Given the description of an element on the screen output the (x, y) to click on. 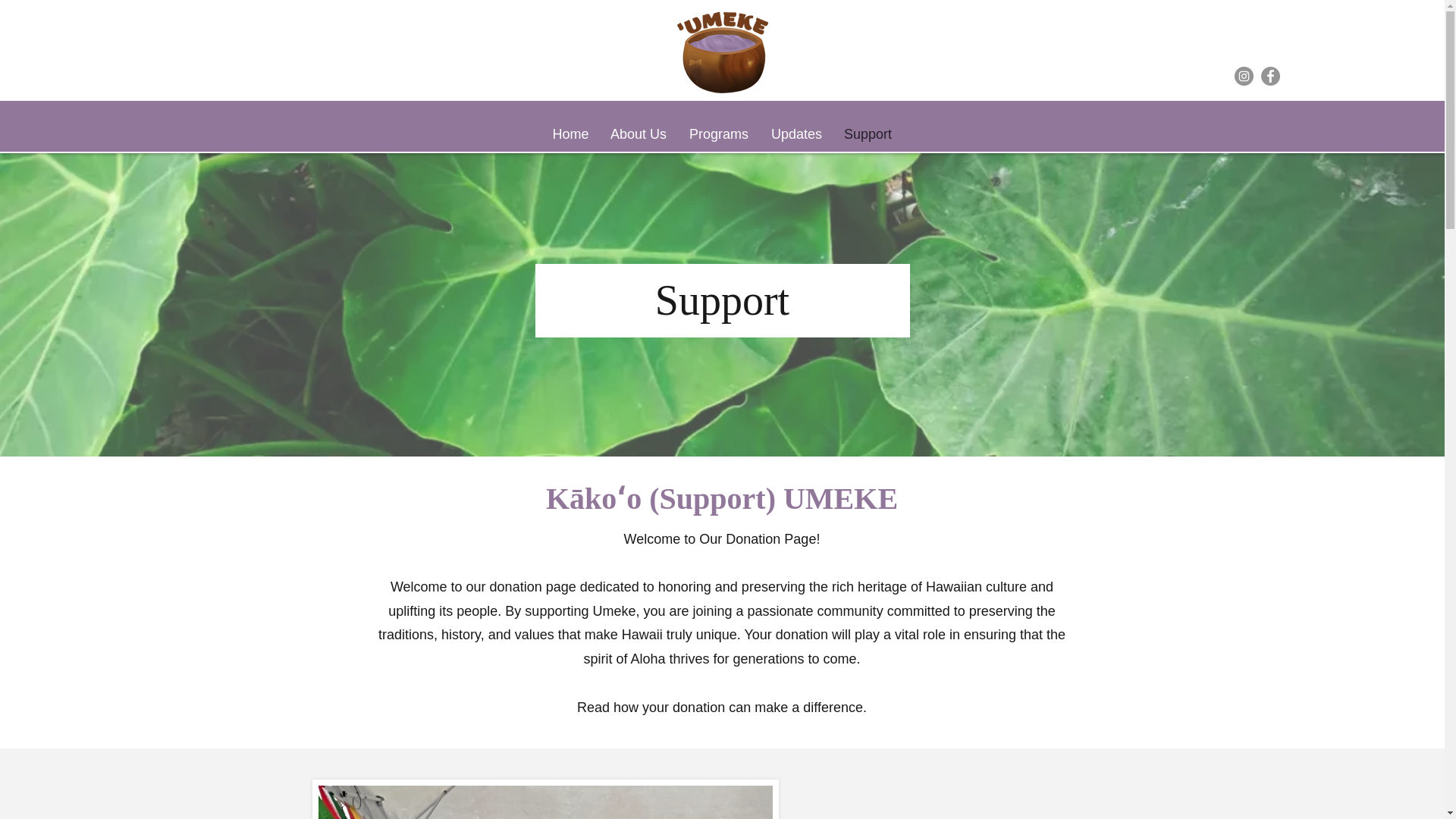
Support (867, 134)
Home (569, 134)
About Us (637, 134)
Umeke Shirt.png (545, 799)
Updates (796, 134)
